Given the description of an element on the screen output the (x, y) to click on. 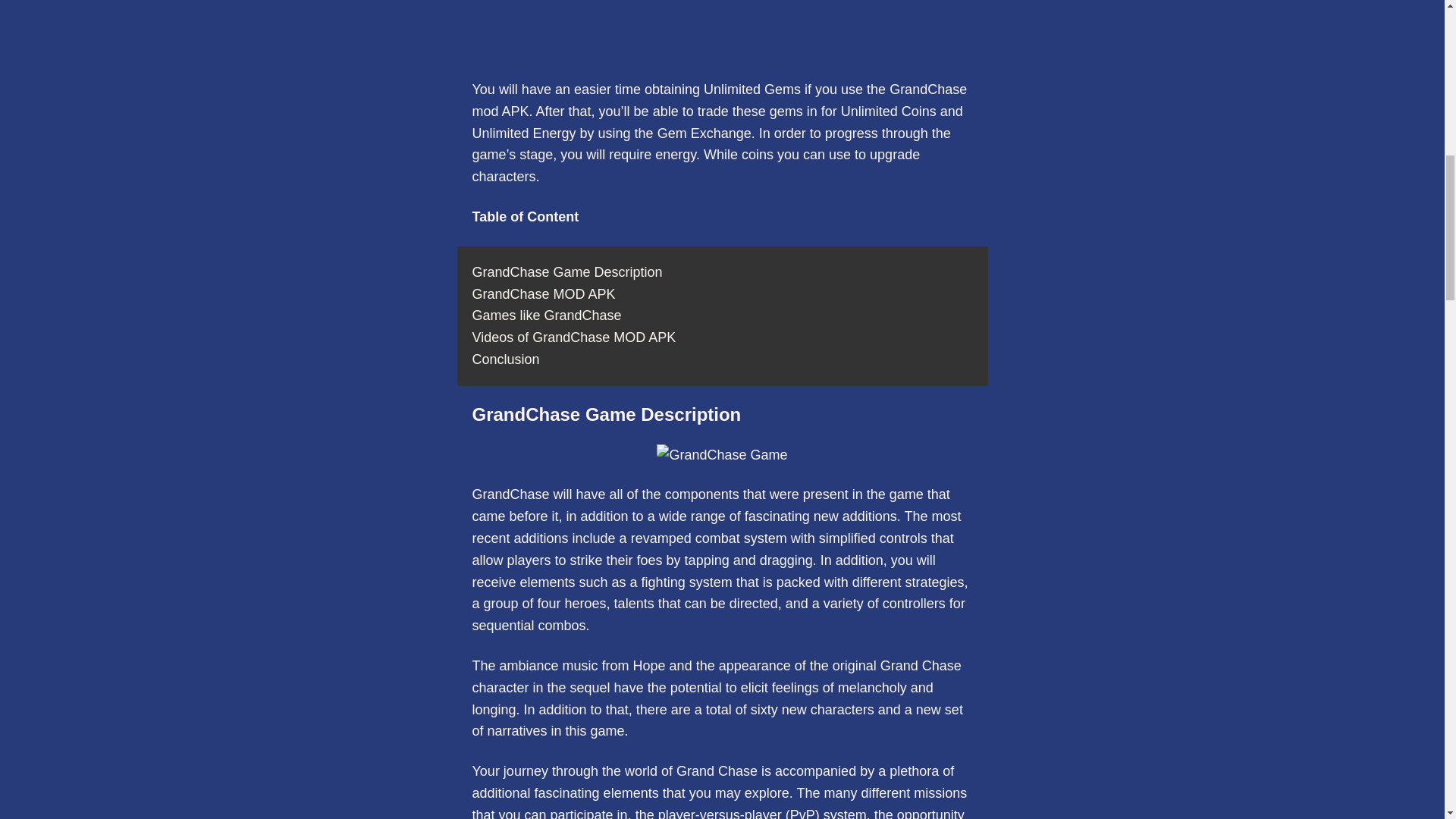
Games like GrandChase (546, 314)
GrandChase Game Description (566, 272)
Videos of GrandChase MOD APK (573, 337)
Conclusion (504, 359)
GrandChase MOD APK (542, 294)
